Given the description of an element on the screen output the (x, y) to click on. 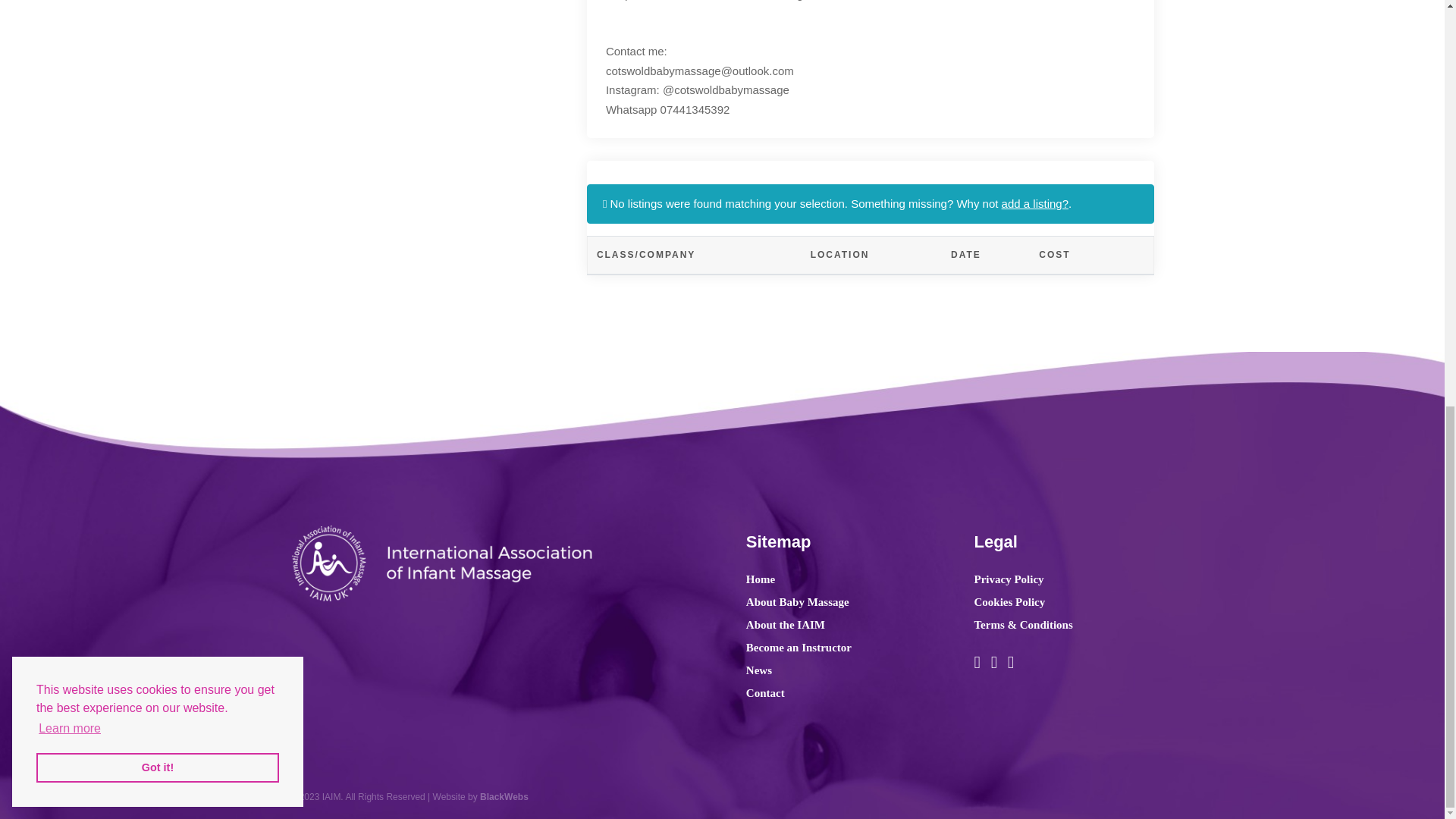
About the IAIM (785, 624)
add a listing? (1034, 203)
About Baby Massage (796, 602)
Contact (764, 693)
Home (759, 579)
Become an Instructor (798, 647)
News (758, 670)
